Given the description of an element on the screen output the (x, y) to click on. 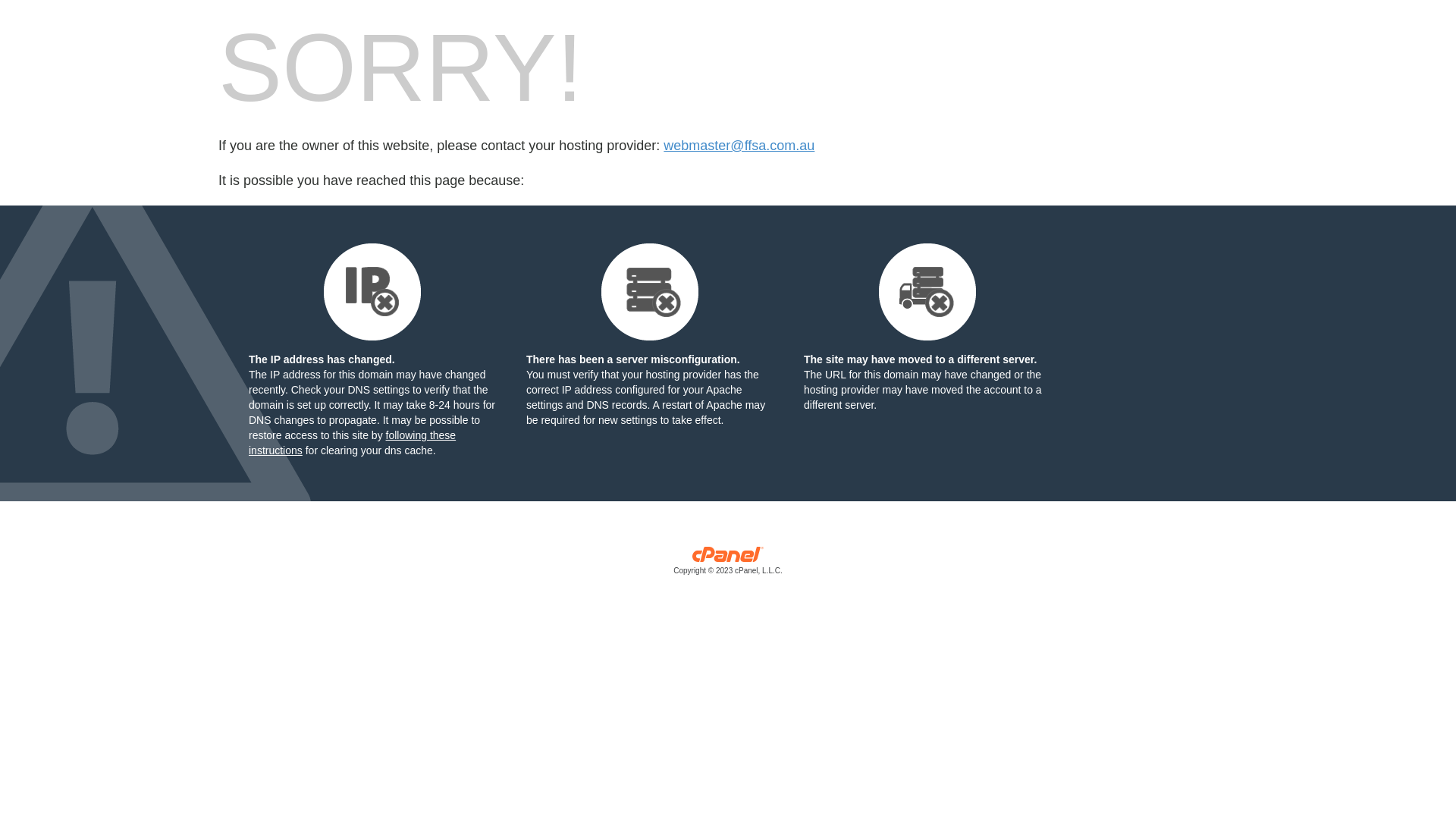
following these instructions Element type: text (351, 442)
webmaster@ffsa.com.au Element type: text (738, 145)
